Given the description of an element on the screen output the (x, y) to click on. 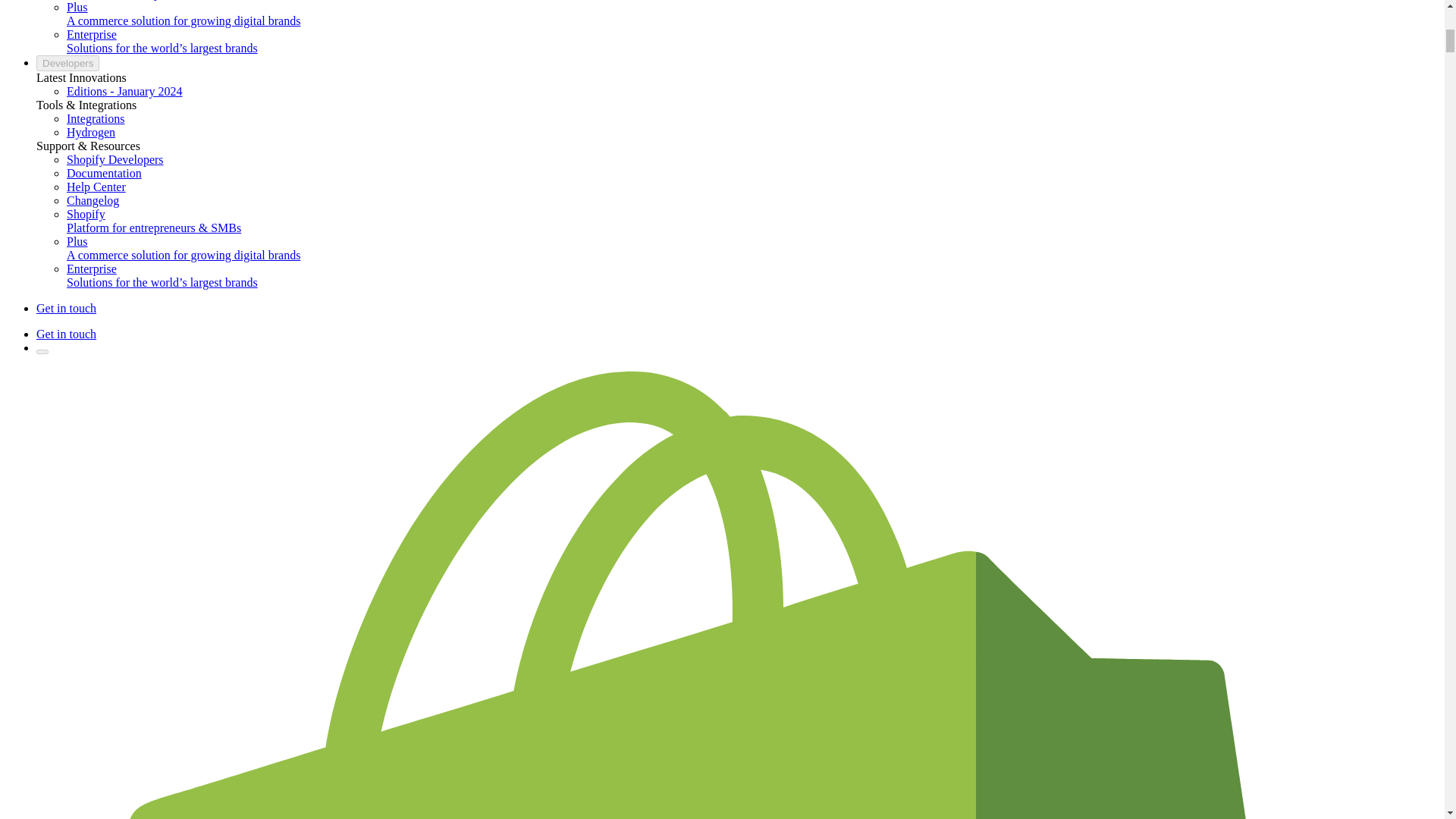
Developers (67, 63)
